Given the description of an element on the screen output the (x, y) to click on. 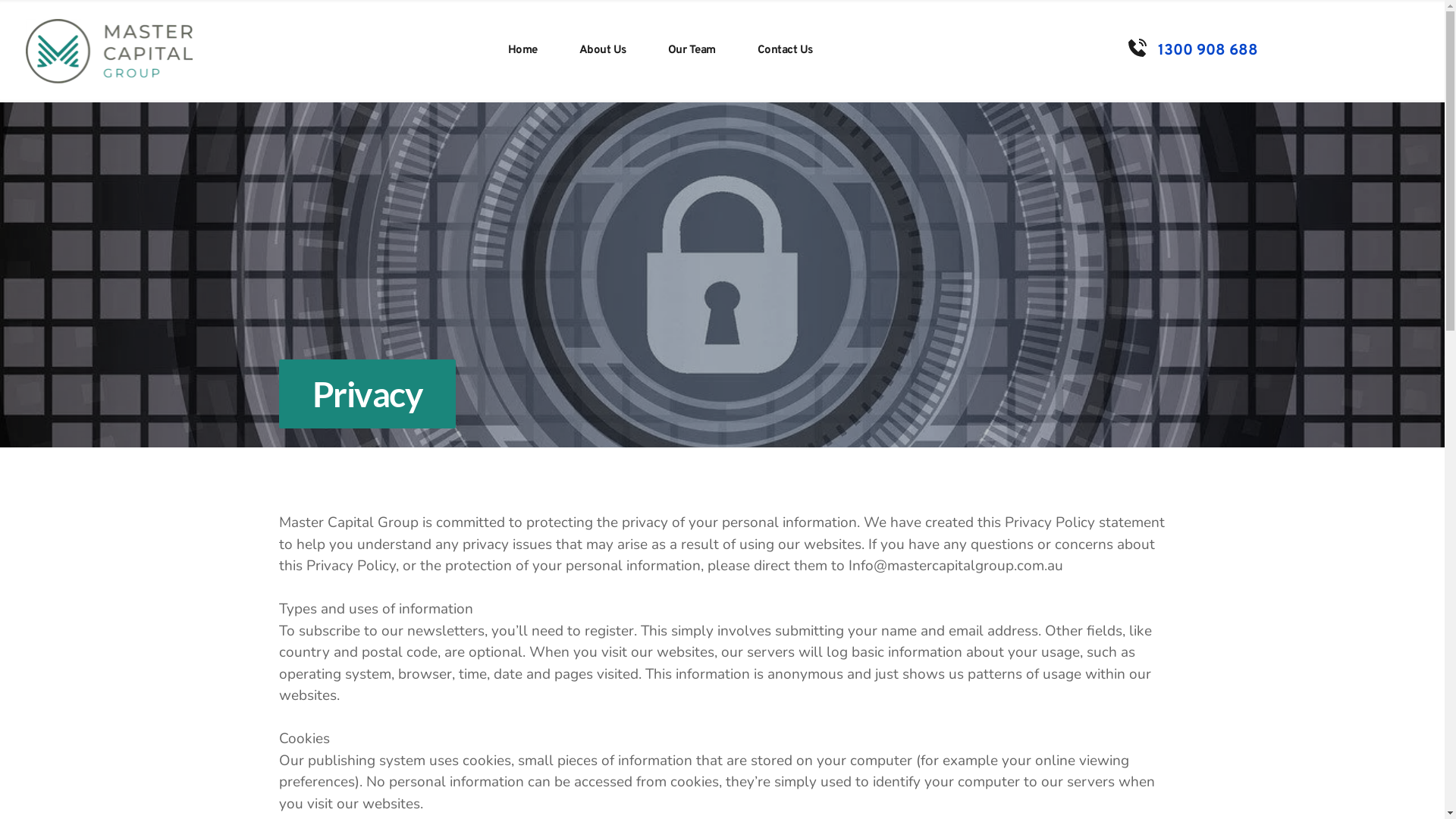
Home Element type: text (522, 50)
Privacy Element type: text (367, 394)
About Us Element type: text (602, 50)
Our Team Element type: text (691, 50)
Contact Us Element type: text (784, 50)
